Given the description of an element on the screen output the (x, y) to click on. 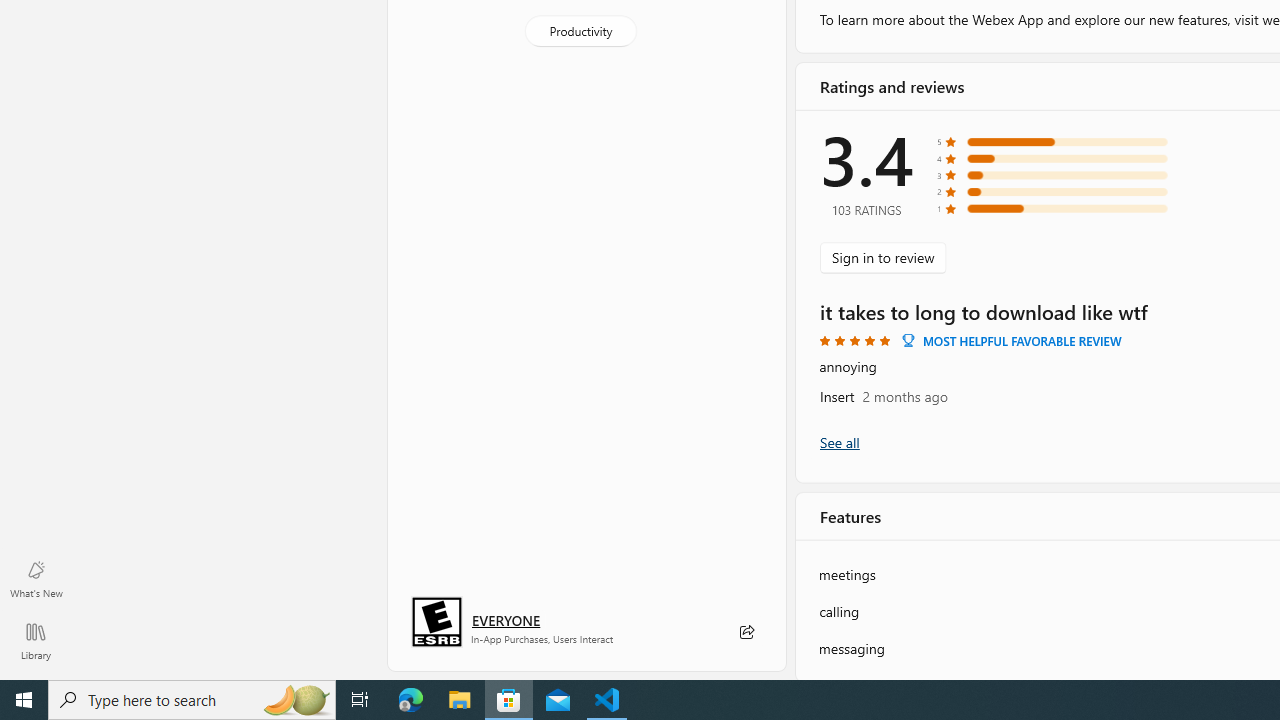
Productivity (579, 30)
Sign in to review (882, 256)
Library (35, 640)
Show all ratings and reviews (838, 441)
Age rating: EVERYONE. Click for more information. (506, 619)
What's New (35, 578)
Share (746, 632)
